Given the description of an element on the screen output the (x, y) to click on. 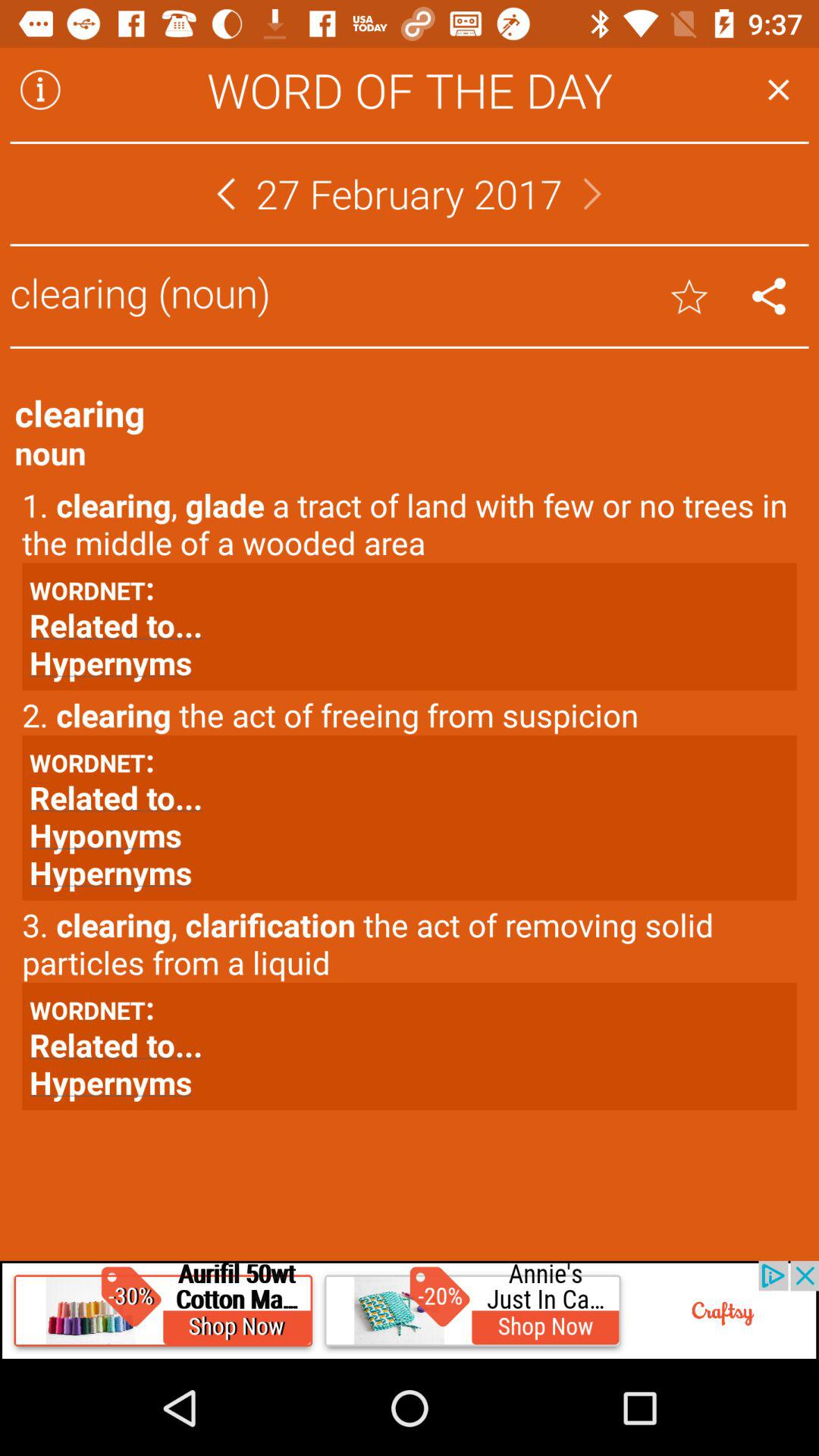
make favorite (689, 296)
